Given the description of an element on the screen output the (x, y) to click on. 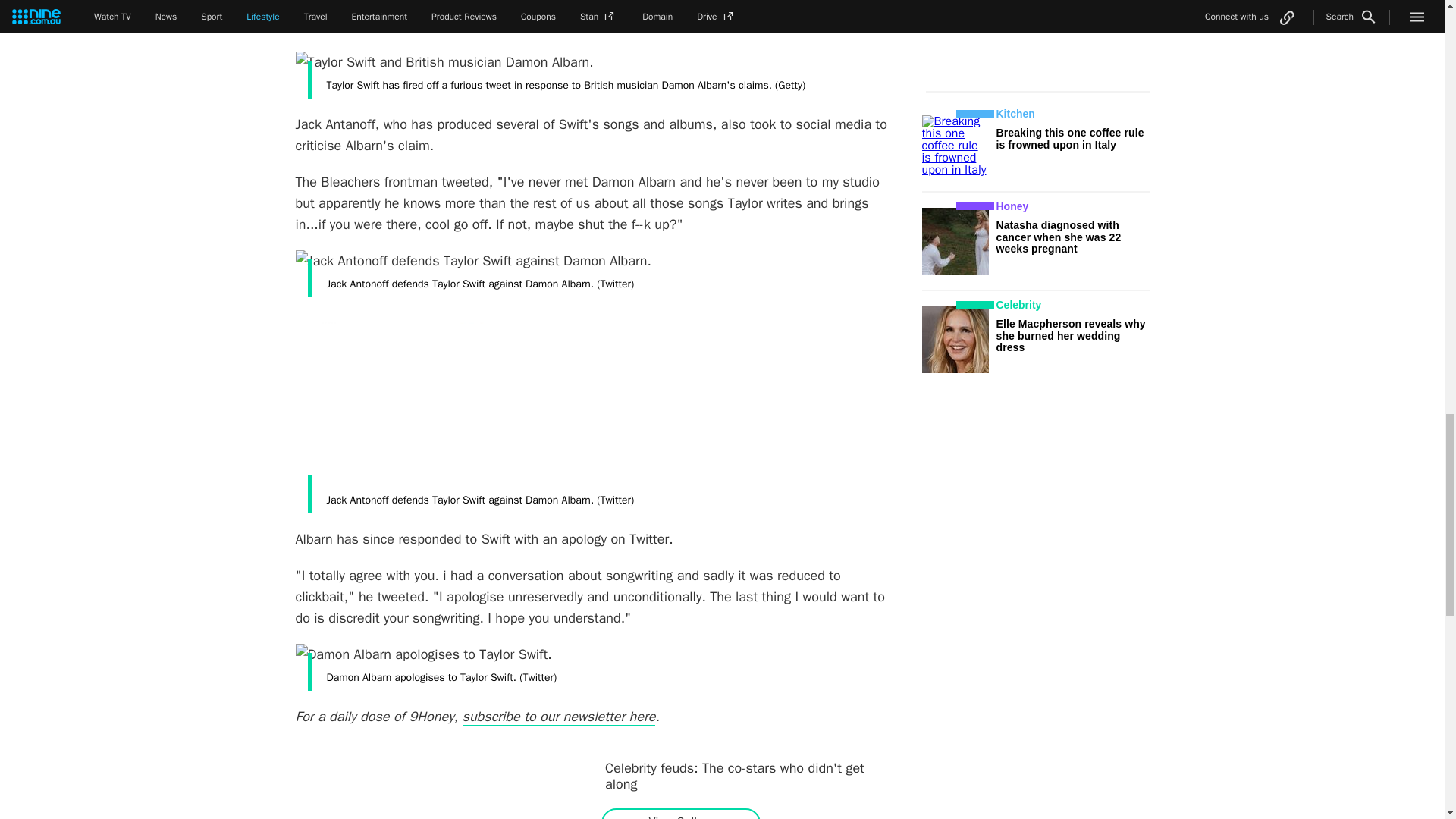
subscribe to our newsletter here (559, 717)
subscribe to our newsletter here (559, 717)
View Gallery (680, 816)
